Given the description of an element on the screen output the (x, y) to click on. 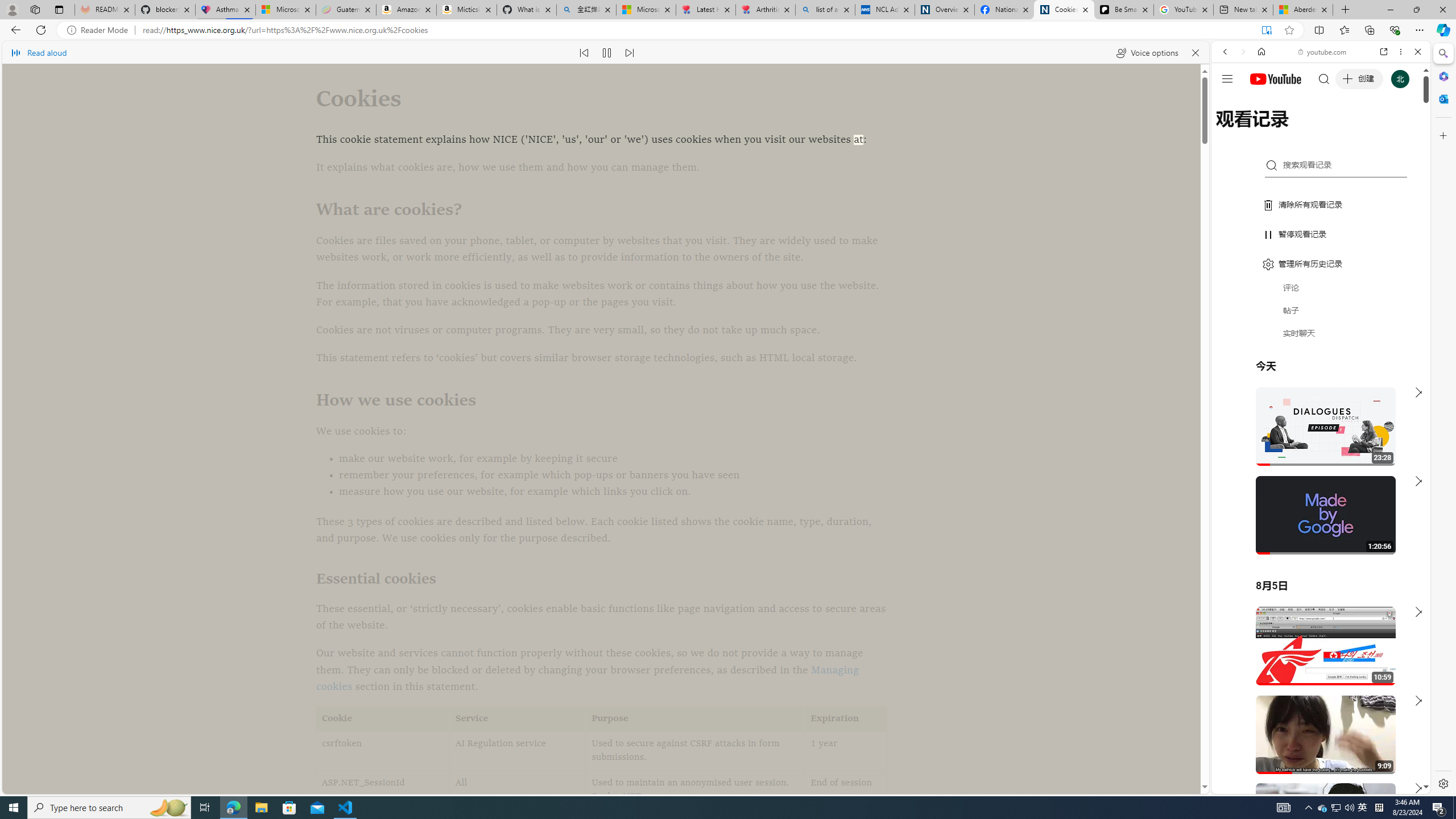
Cookies (1064, 9)
Cookie (382, 718)
Be Smart | creating Science videos | Patreon (1123, 9)
All (517, 790)
